Given the description of an element on the screen output the (x, y) to click on. 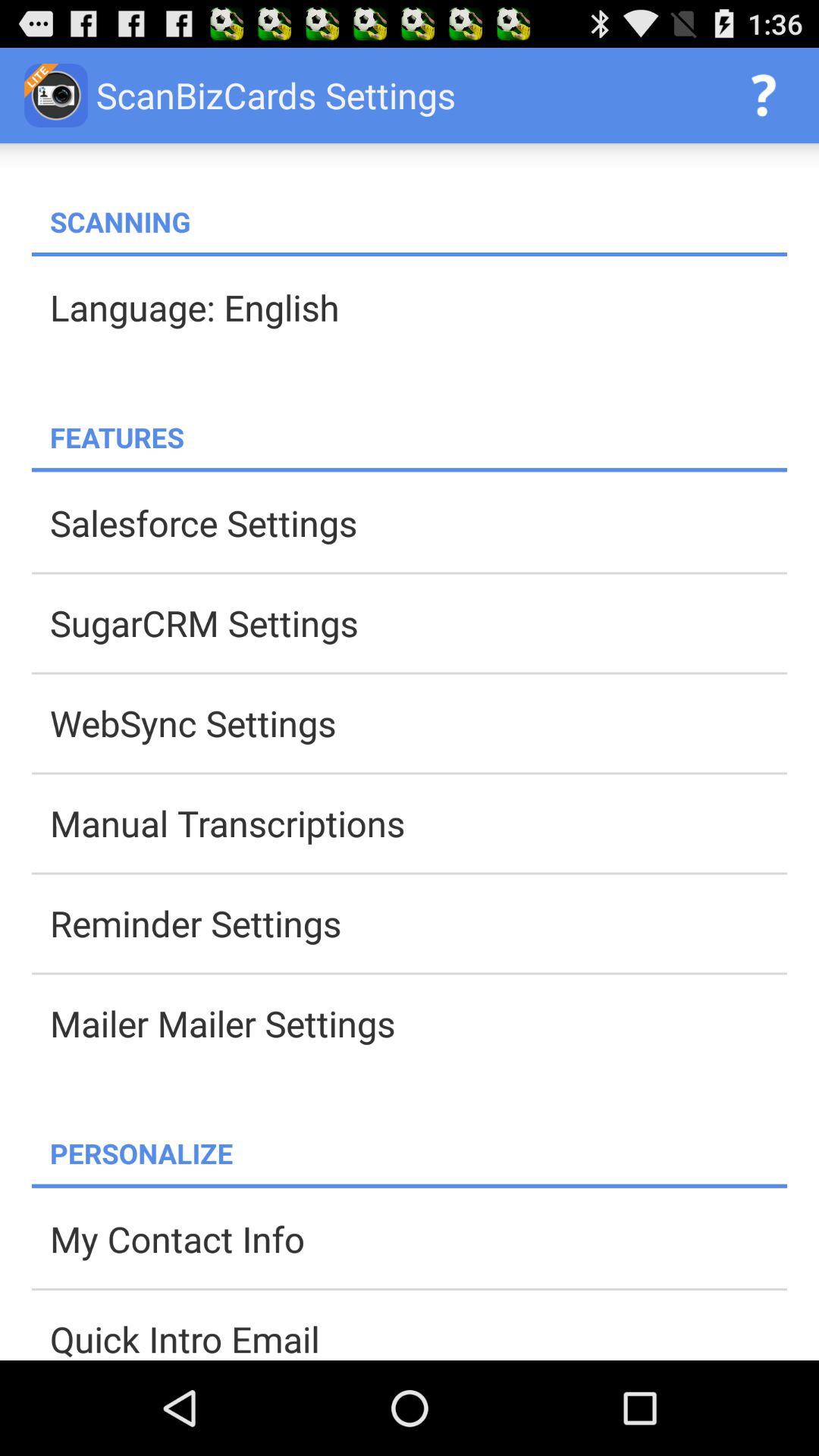
open icon below scanning item (409, 254)
